Given the description of an element on the screen output the (x, y) to click on. 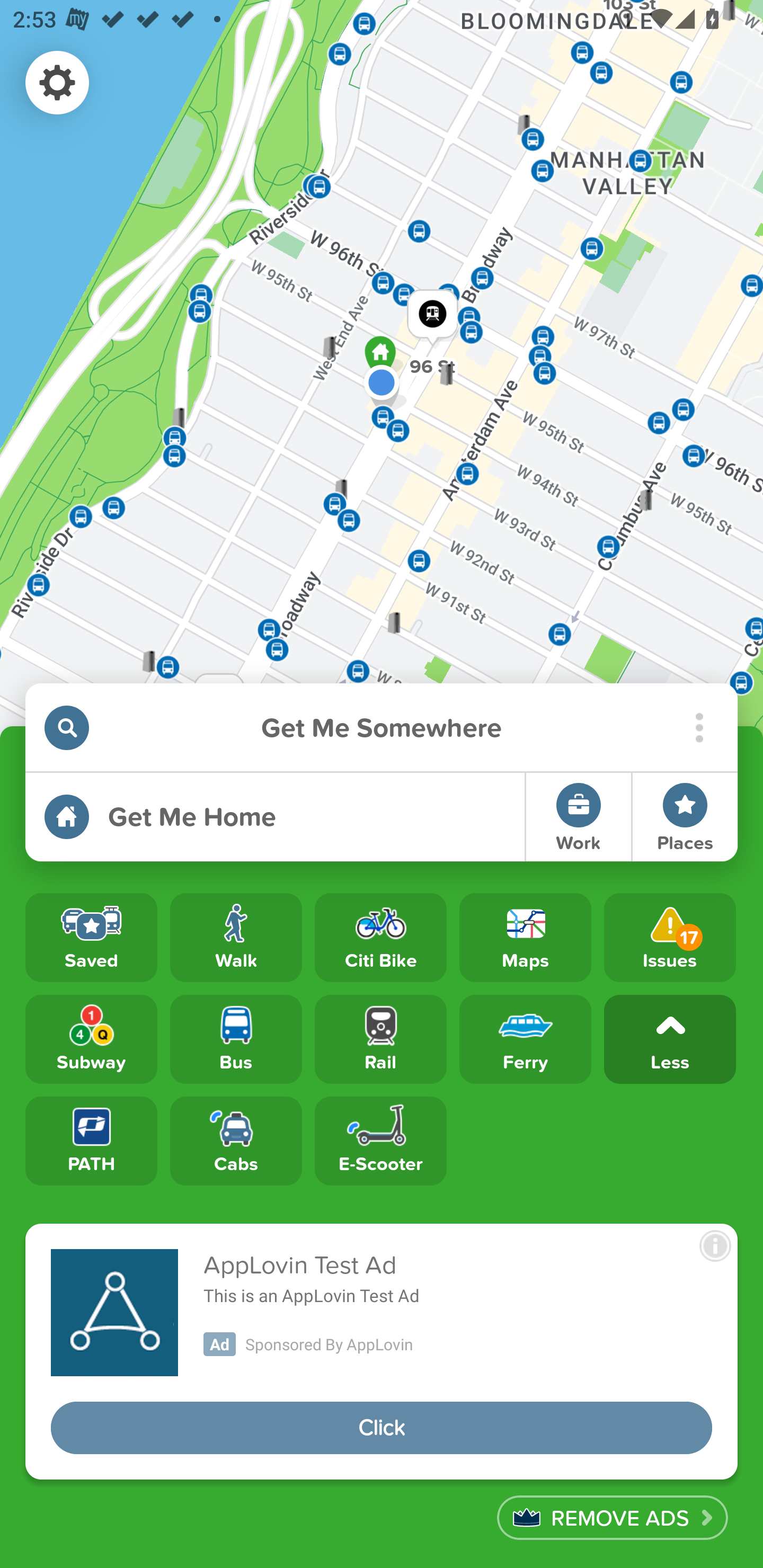
E-Scooter (380, 1140)
